Given the description of an element on the screen output the (x, y) to click on. 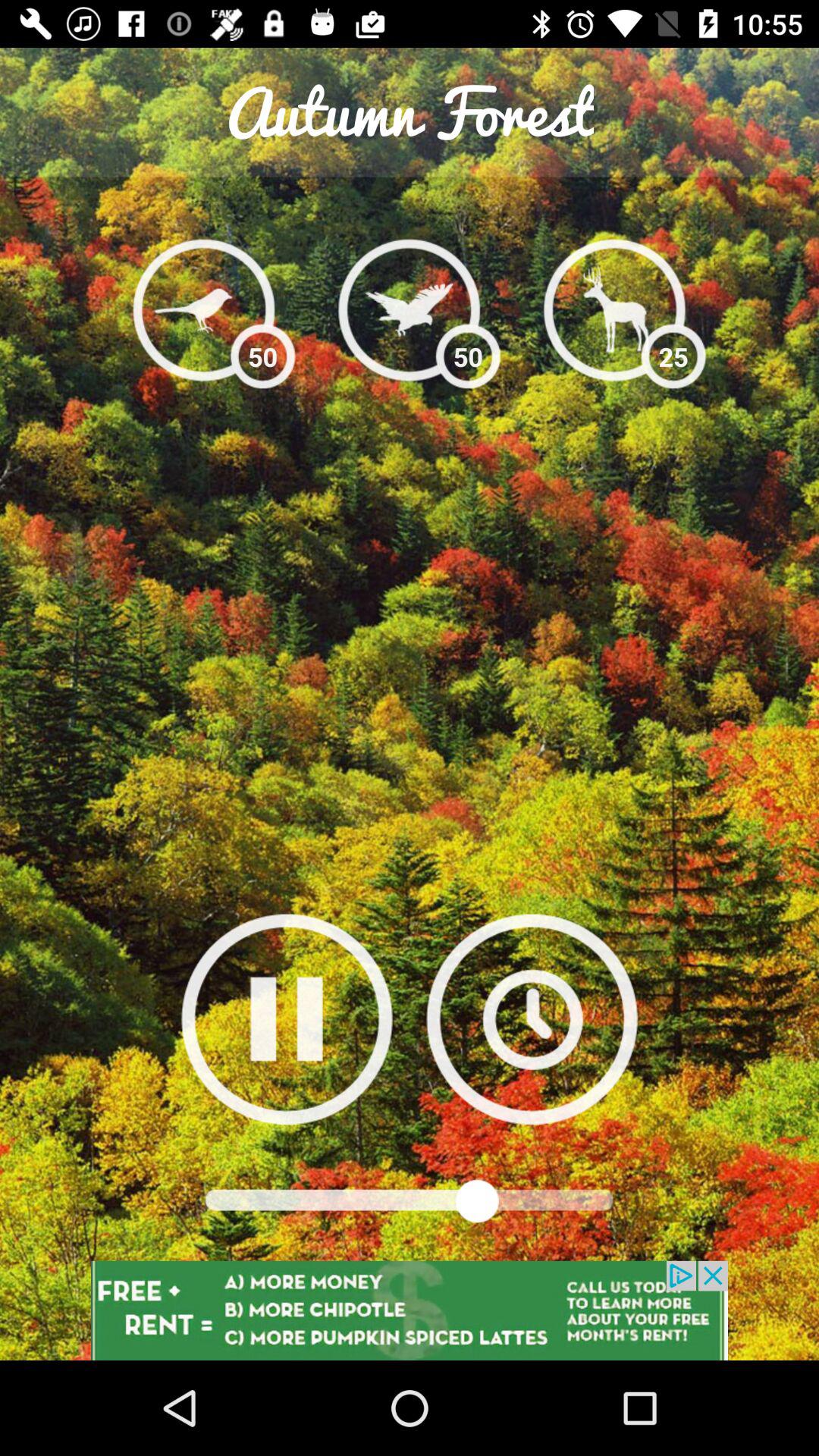
select small bird (203, 309)
